Given the description of an element on the screen output the (x, y) to click on. 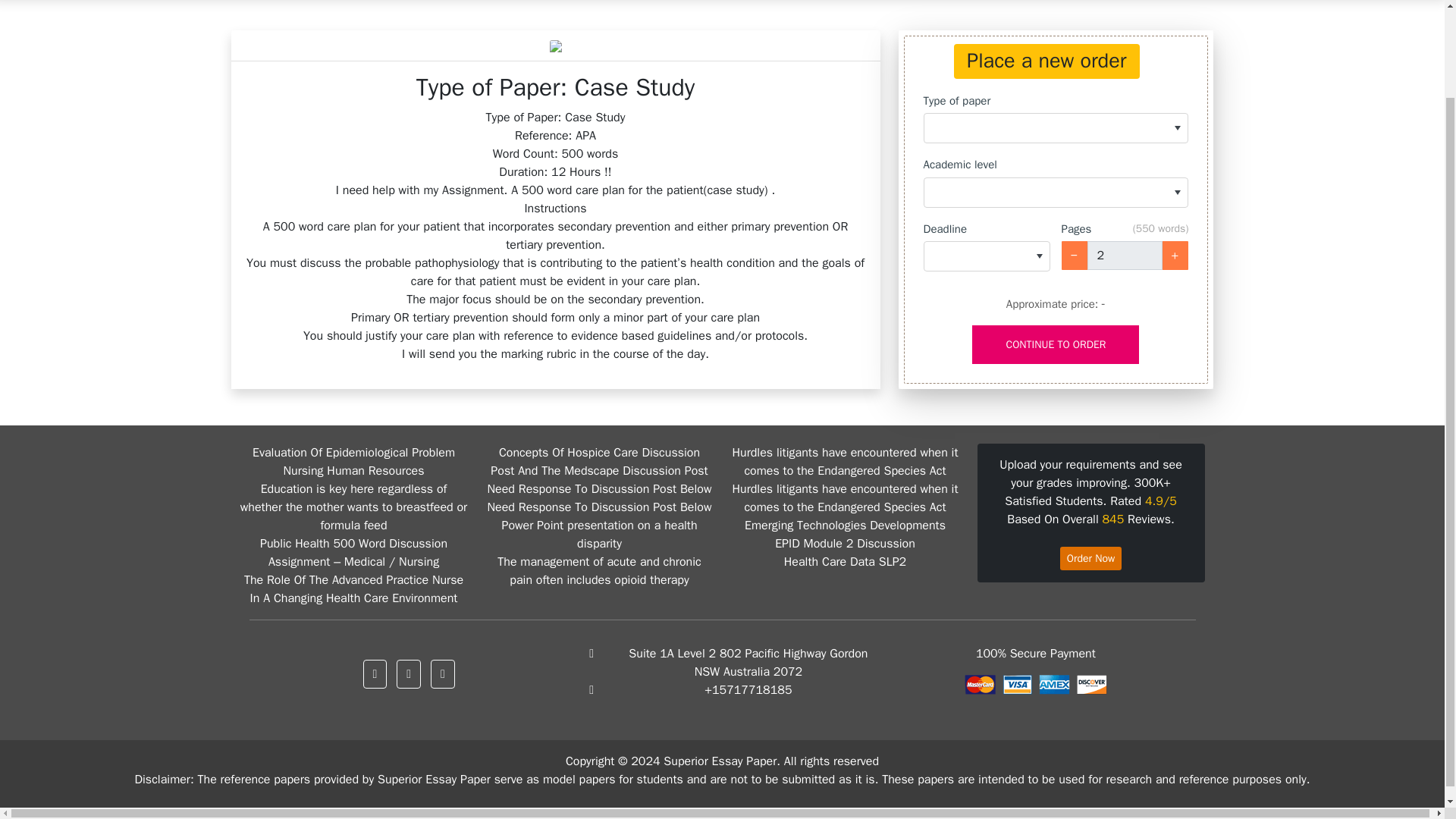
Power Point presentation on a health disparity (598, 534)
Emerging Technologies Developments (844, 525)
Need Response To Discussion Post Below (599, 488)
Order Now (1090, 558)
Health Care Data SLP2 (844, 561)
Continue to order (1055, 344)
Nursing Human Resources (354, 470)
